Given the description of an element on the screen output the (x, y) to click on. 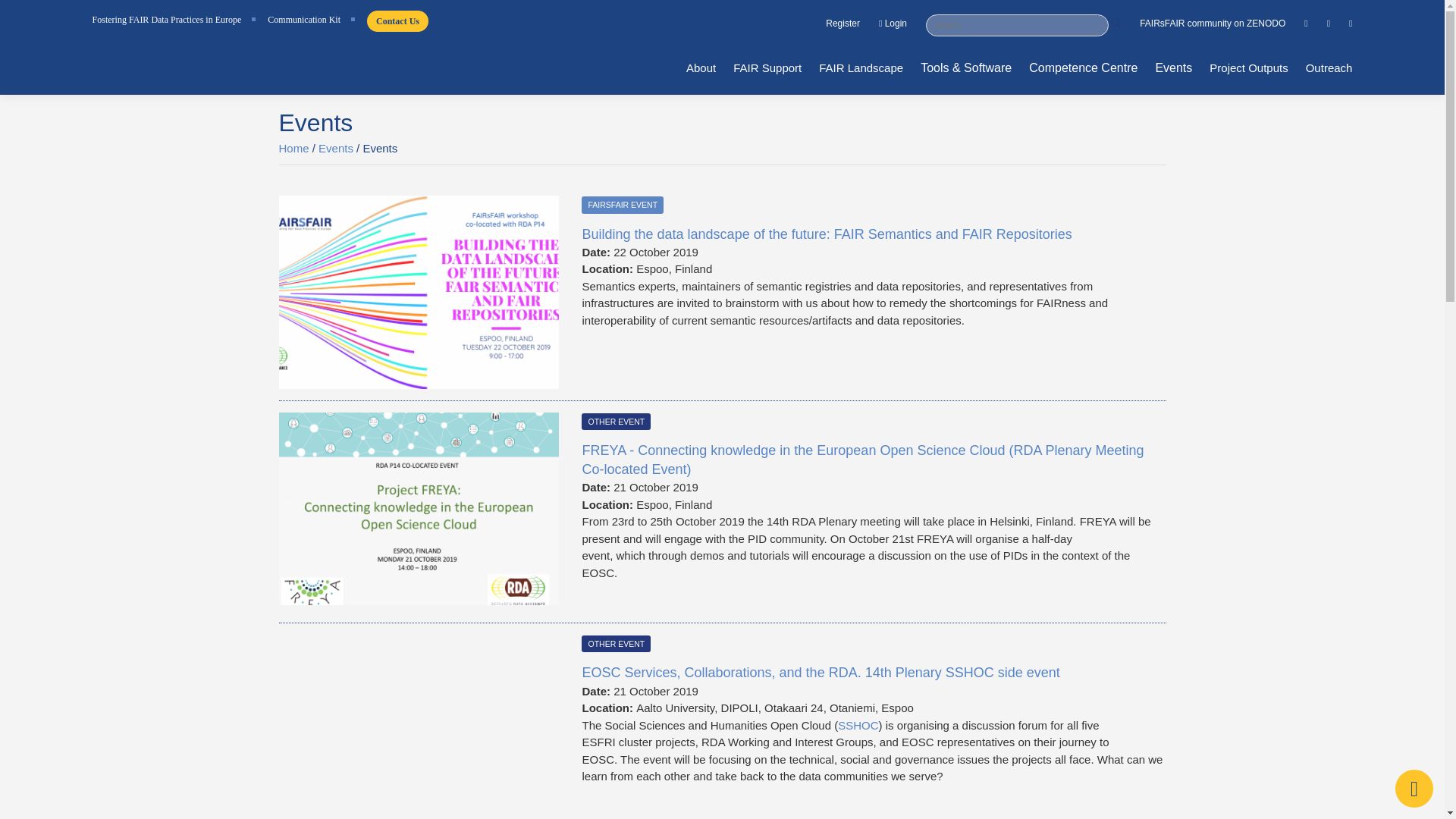
Register (842, 23)
Sign out (842, 23)
Communication Kit (307, 19)
Fostering FAIR Data Practices in Europe (170, 19)
Login (893, 23)
FAIRsFAIR community on ZENODO (1212, 23)
Competence Centre (1083, 70)
Enter the terms you wish to search for. (1017, 25)
Sign out (893, 23)
Contact Us (397, 20)
